Given the description of an element on the screen output the (x, y) to click on. 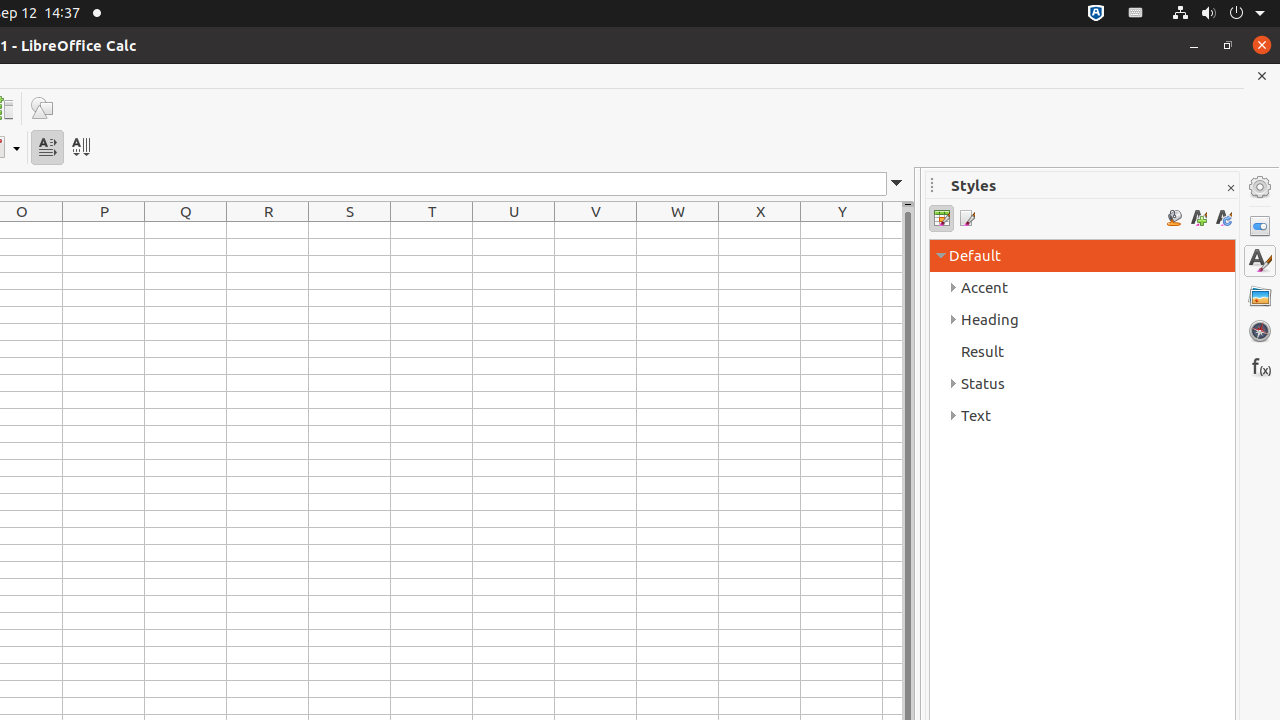
Z1 Element type: table-cell (892, 230)
S1 Element type: table-cell (350, 230)
Y1 Element type: table-cell (842, 230)
Page Styles Element type: push-button (966, 218)
W1 Element type: table-cell (678, 230)
